Given the description of an element on the screen output the (x, y) to click on. 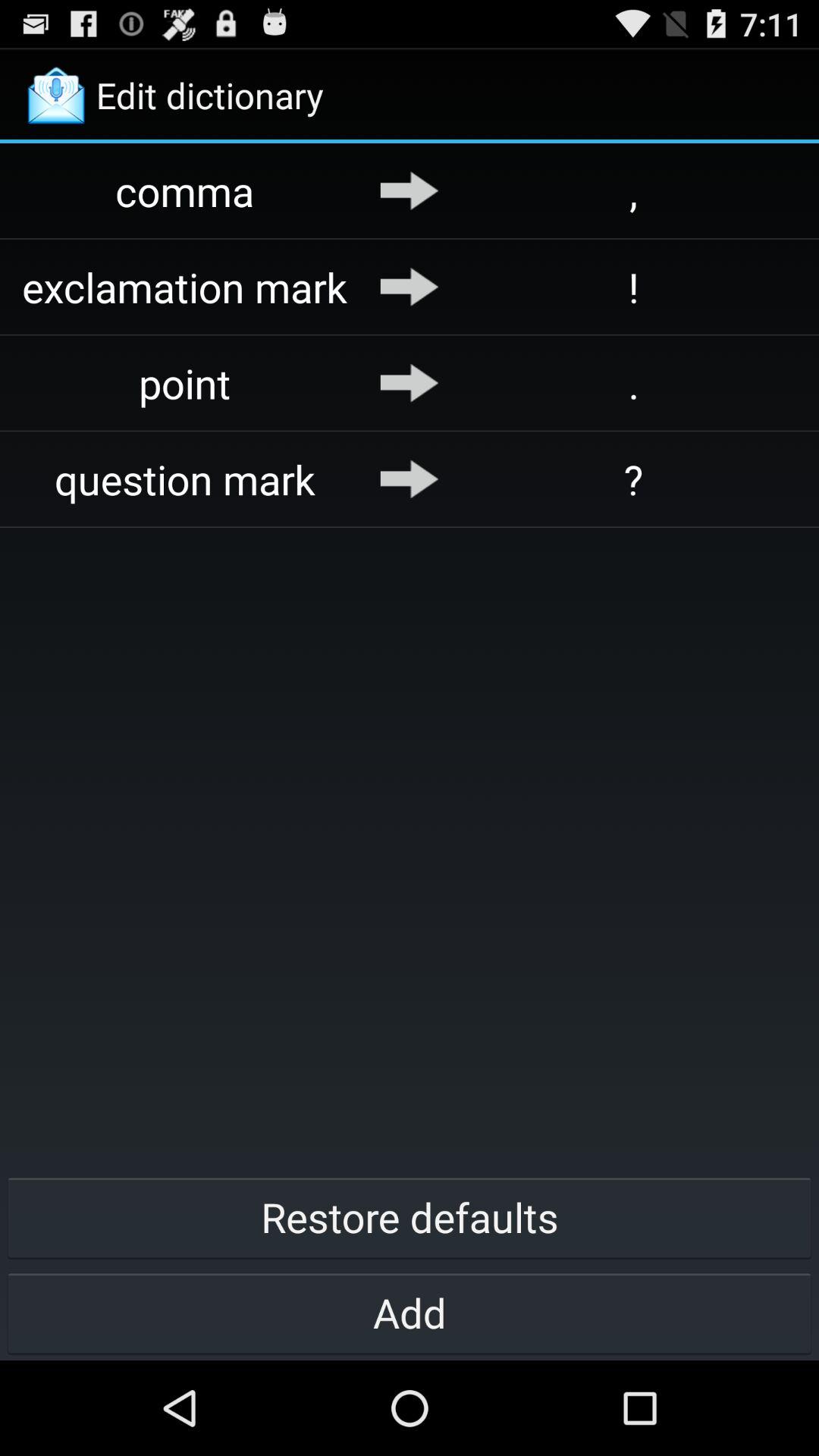
choose icon to the left of ? app (409, 478)
